Given the description of an element on the screen output the (x, y) to click on. 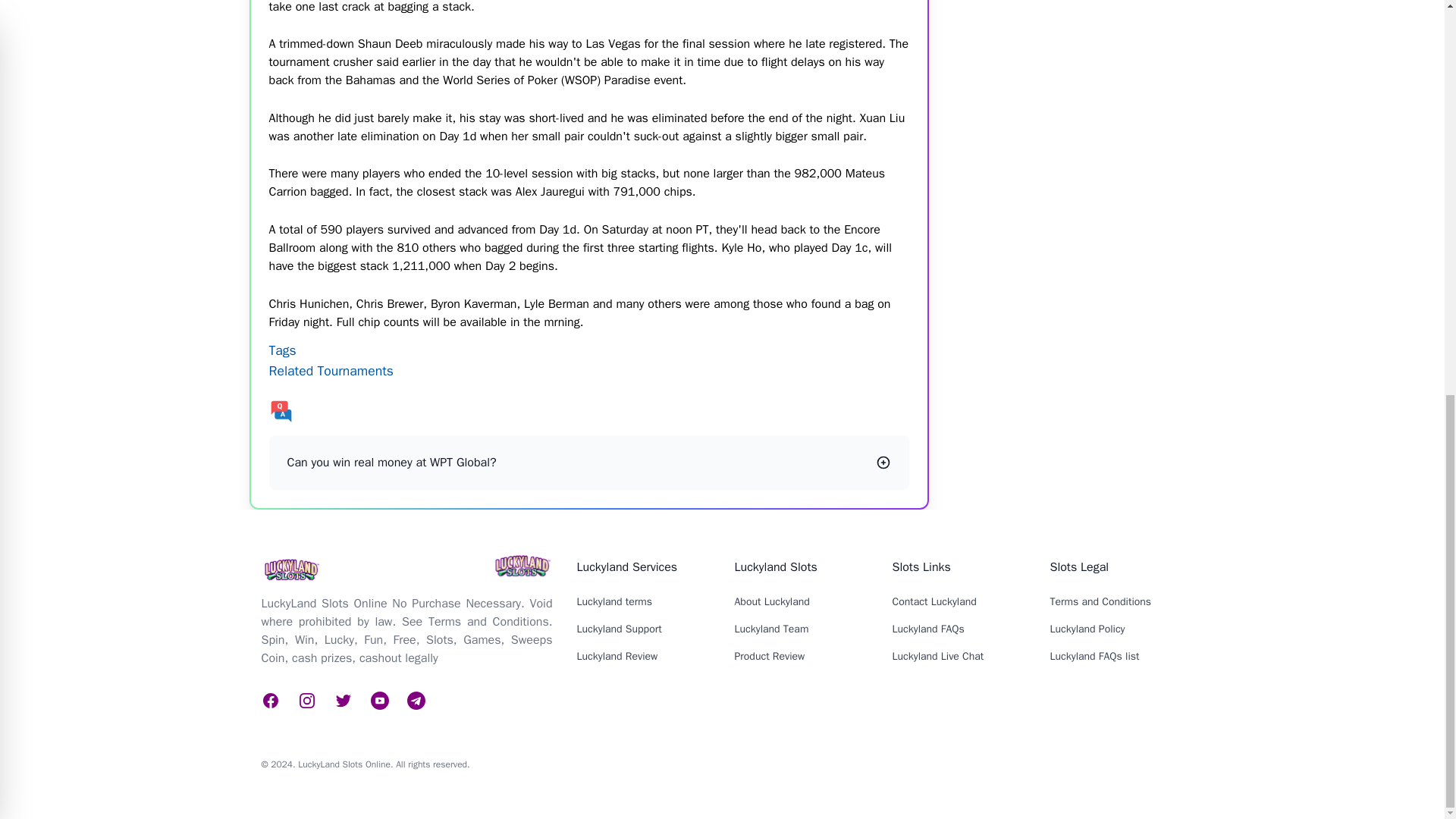
Twitter (378, 700)
Twitter (342, 700)
Facebook (269, 700)
Twitter (415, 700)
FAQs list (587, 410)
Instagram (306, 700)
